Given the description of an element on the screen output the (x, y) to click on. 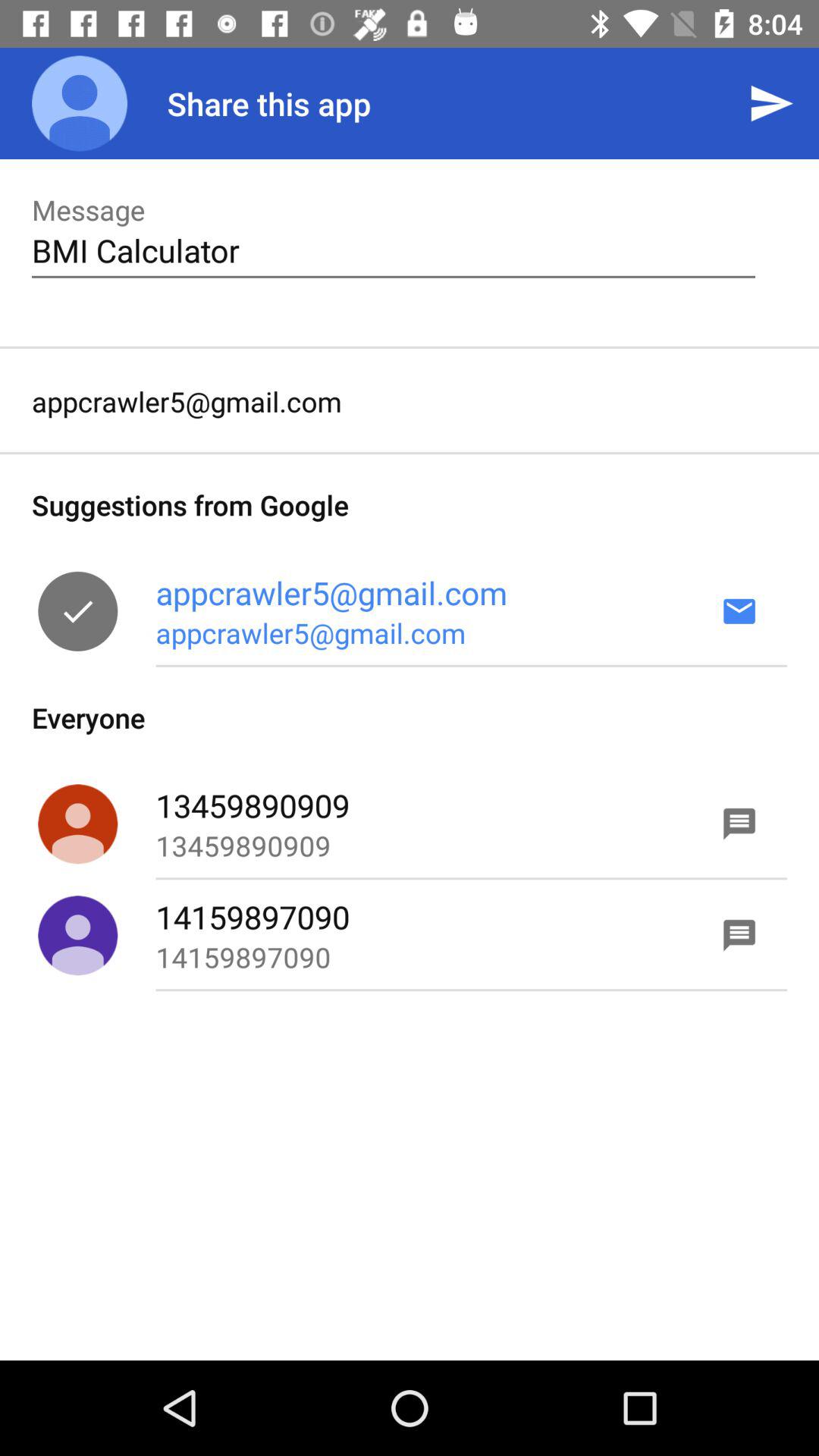
choose item above message (79, 103)
